Given the description of an element on the screen output the (x, y) to click on. 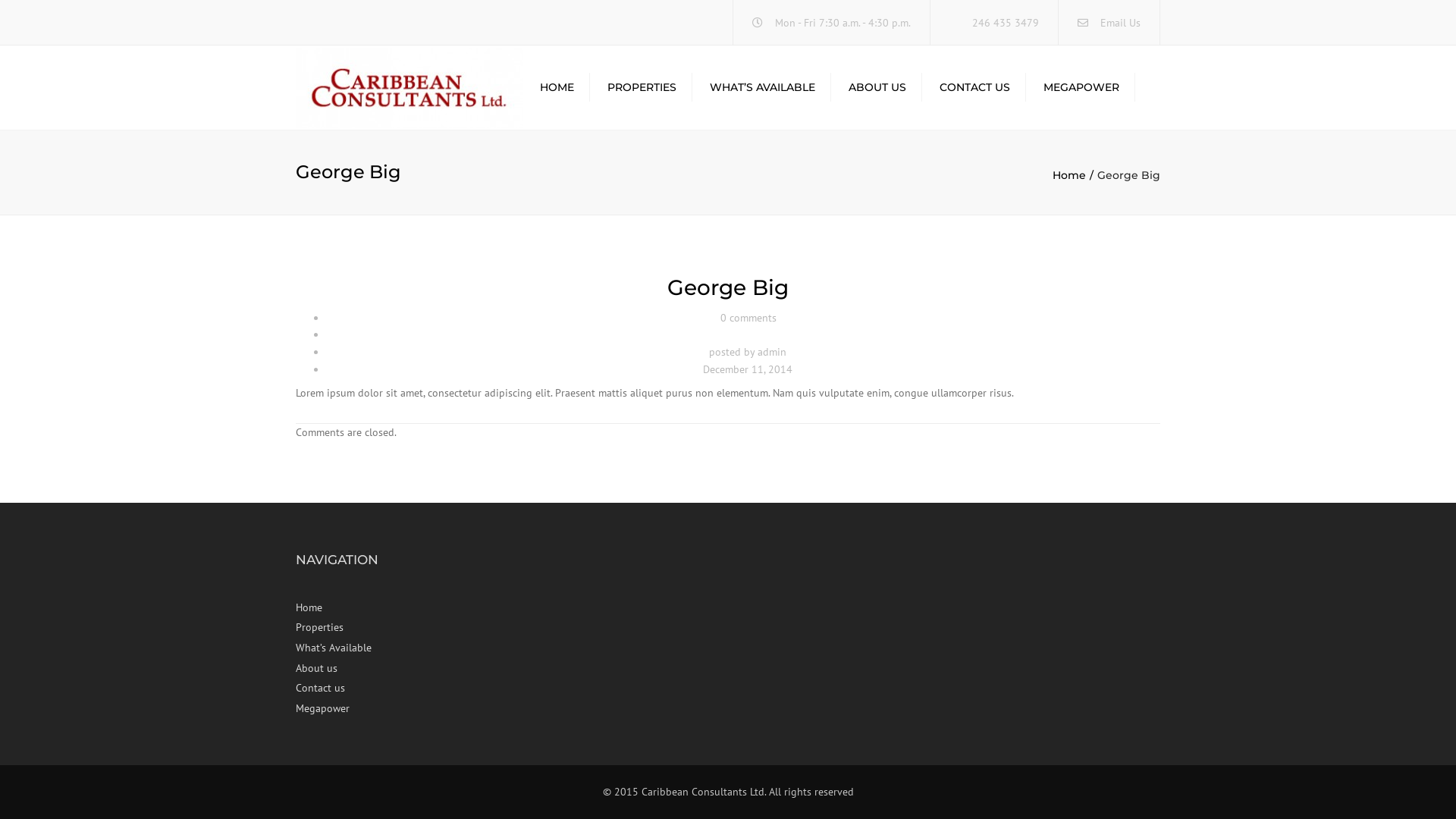
Properties Element type: text (395, 627)
PROPERTIES Element type: text (641, 87)
About us Element type: text (395, 668)
admin Element type: text (771, 351)
Home Element type: text (395, 607)
0 comments Element type: text (748, 317)
Megapower Element type: text (395, 708)
Search Element type: text (1154, 86)
Home Element type: text (1074, 175)
HOME Element type: text (556, 87)
Email Us Element type: text (1120, 22)
Contact us Element type: text (395, 687)
ABOUT US Element type: text (876, 87)
CONTACT US Element type: text (974, 87)
MEGAPOWER Element type: text (1080, 87)
